Given the description of an element on the screen output the (x, y) to click on. 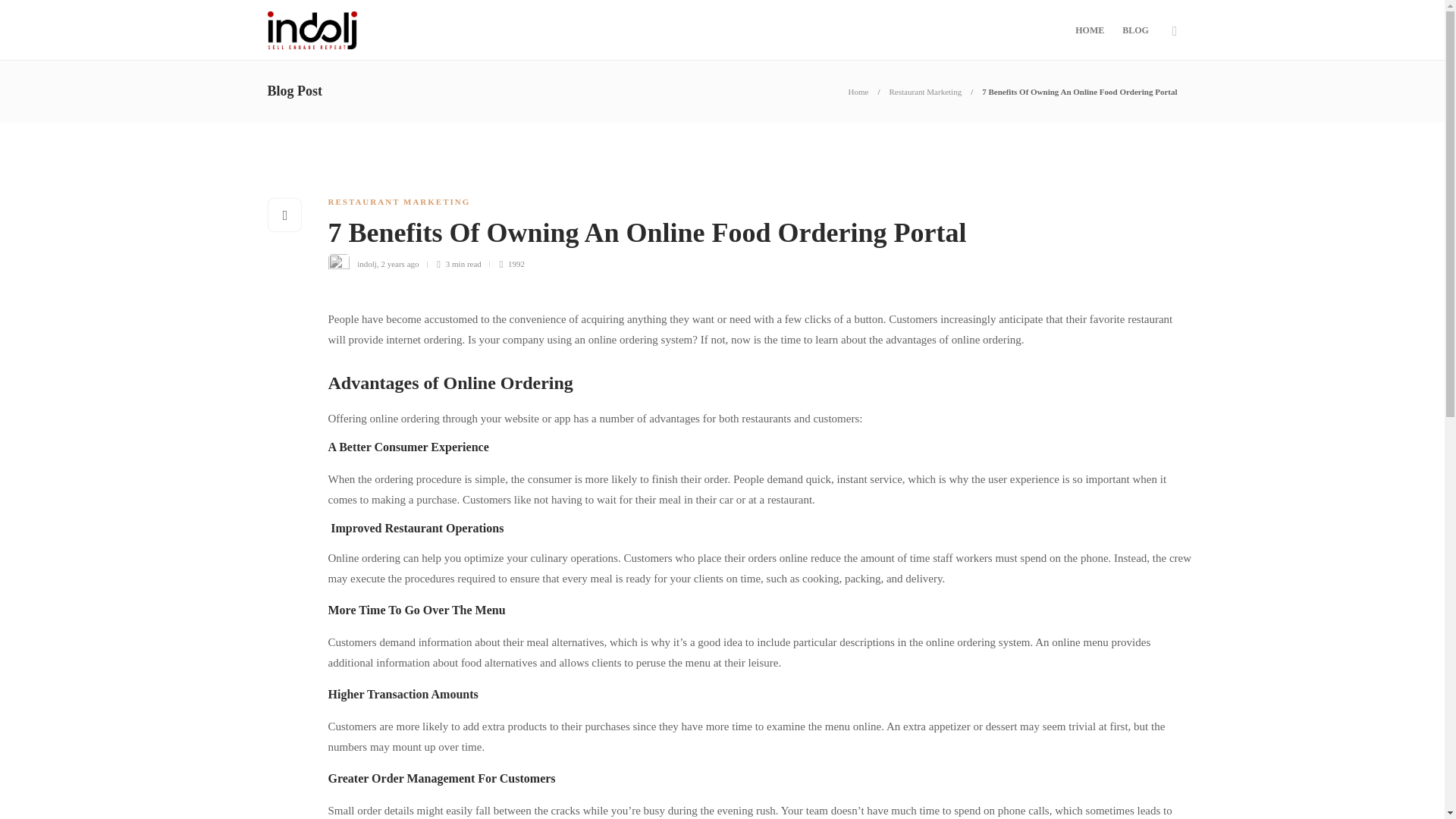
Home (858, 90)
Restaurant Marketing (925, 90)
Home (858, 90)
7 Benefits Of Owning An Online Food Ordering Portal (740, 236)
RESTAURANT MARKETING (398, 201)
indolj (366, 263)
2 years ago (399, 263)
7 Benefits Of Owning An Online Food Ordering Portal (1078, 90)
